Given the description of an element on the screen output the (x, y) to click on. 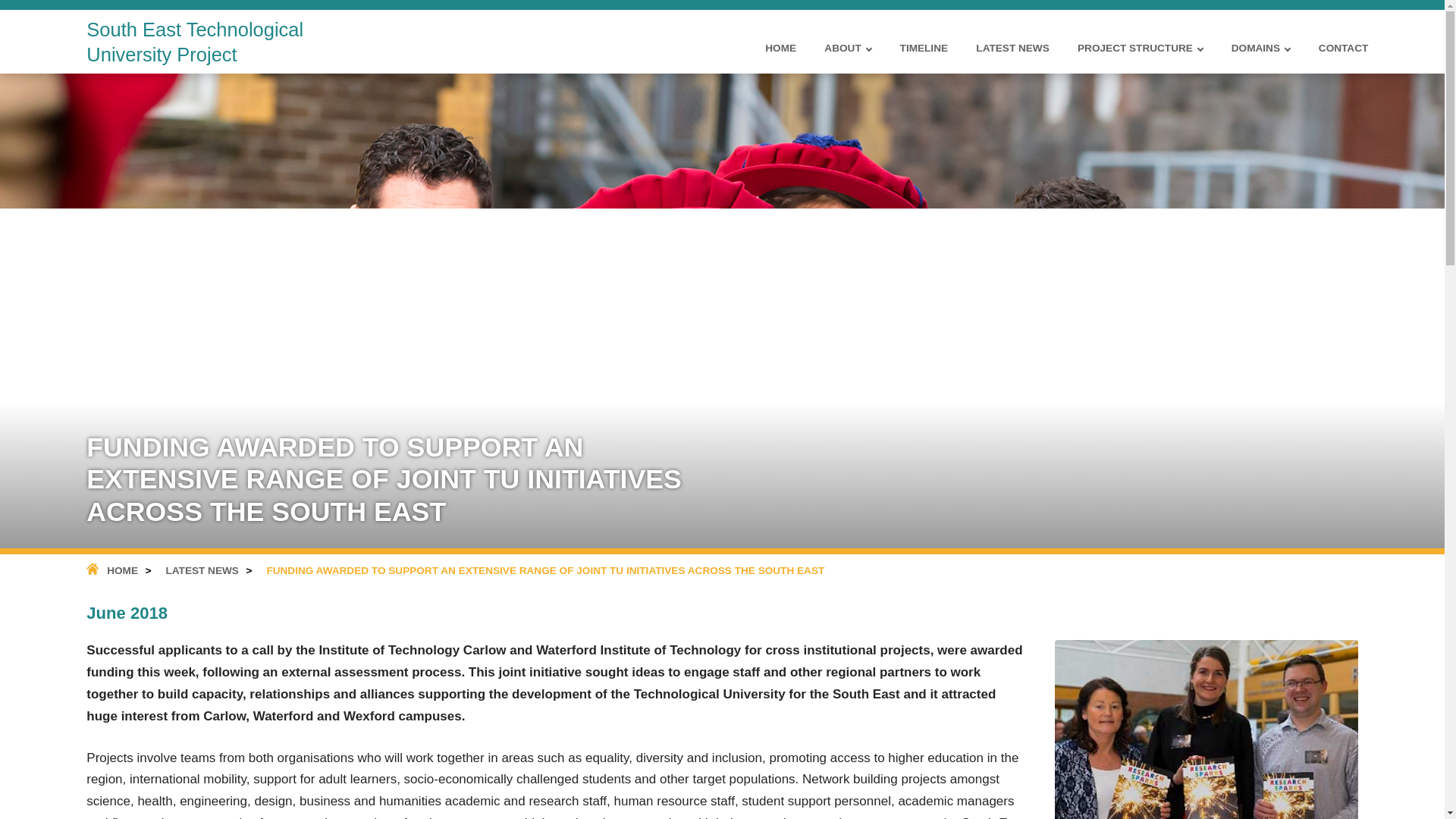
CONTACT (1343, 54)
HOME (780, 54)
South East Technological University Project (227, 45)
DOMAINS (1260, 54)
TIMELINE (923, 54)
PROJECT STRUCTURE (1139, 54)
LATEST NEWS (1011, 54)
LATEST NEWS (201, 571)
HOME (111, 571)
ABOUT (847, 54)
